Given the description of an element on the screen output the (x, y) to click on. 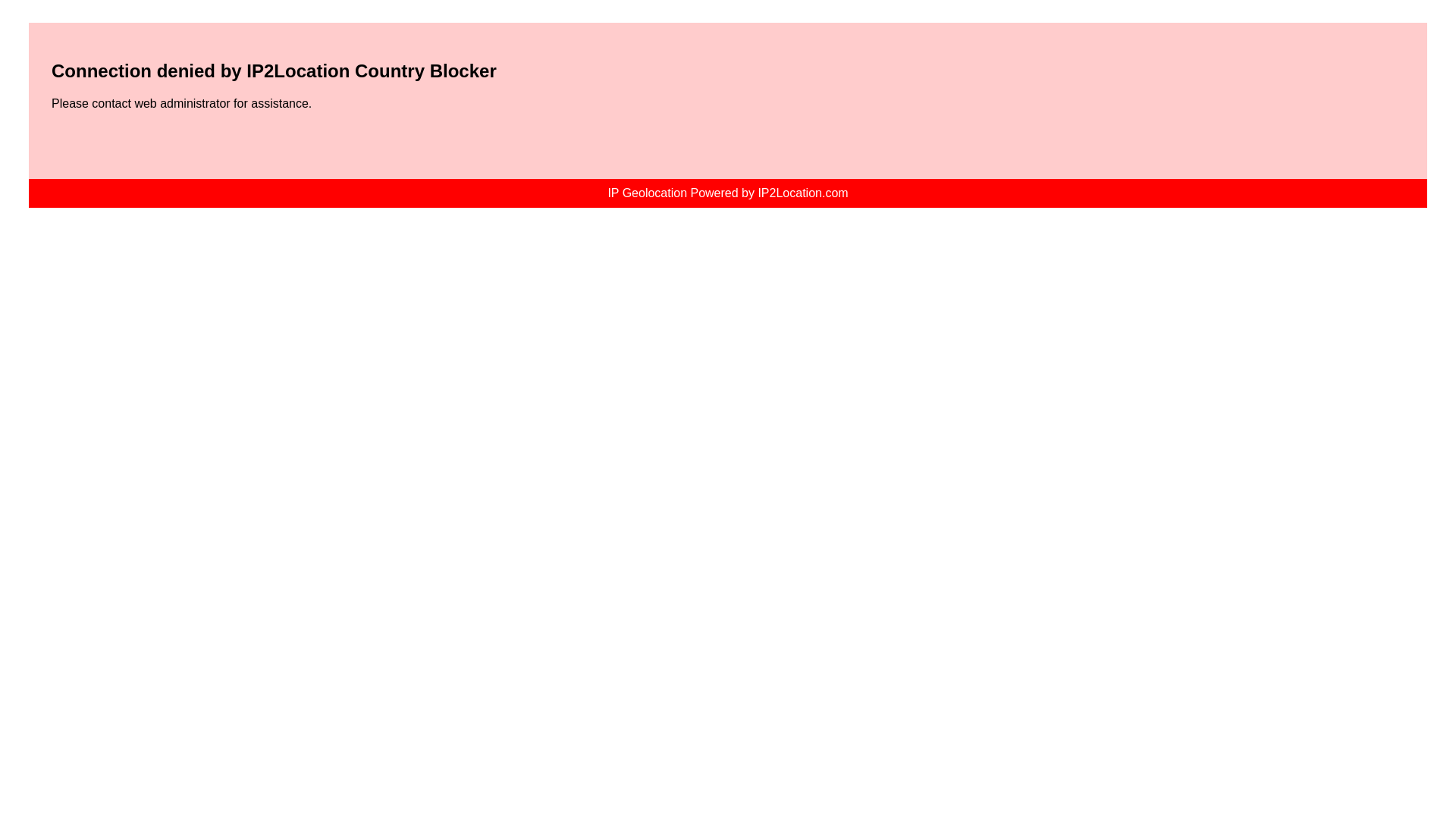
IP Geolocation Powered by IP2Location.com (727, 192)
